Given the description of an element on the screen output the (x, y) to click on. 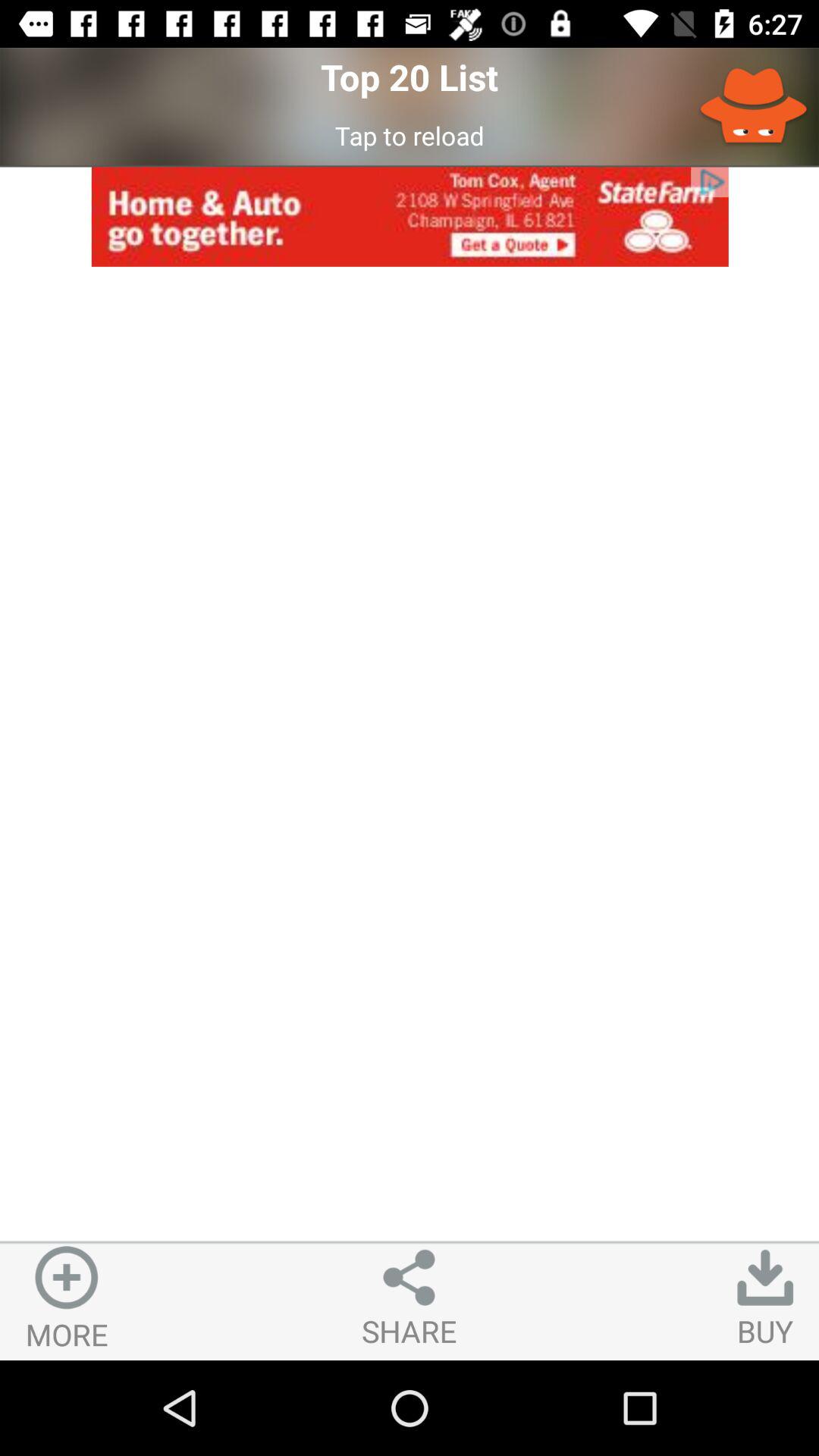
click icon at the center (409, 753)
